Given the description of an element on the screen output the (x, y) to click on. 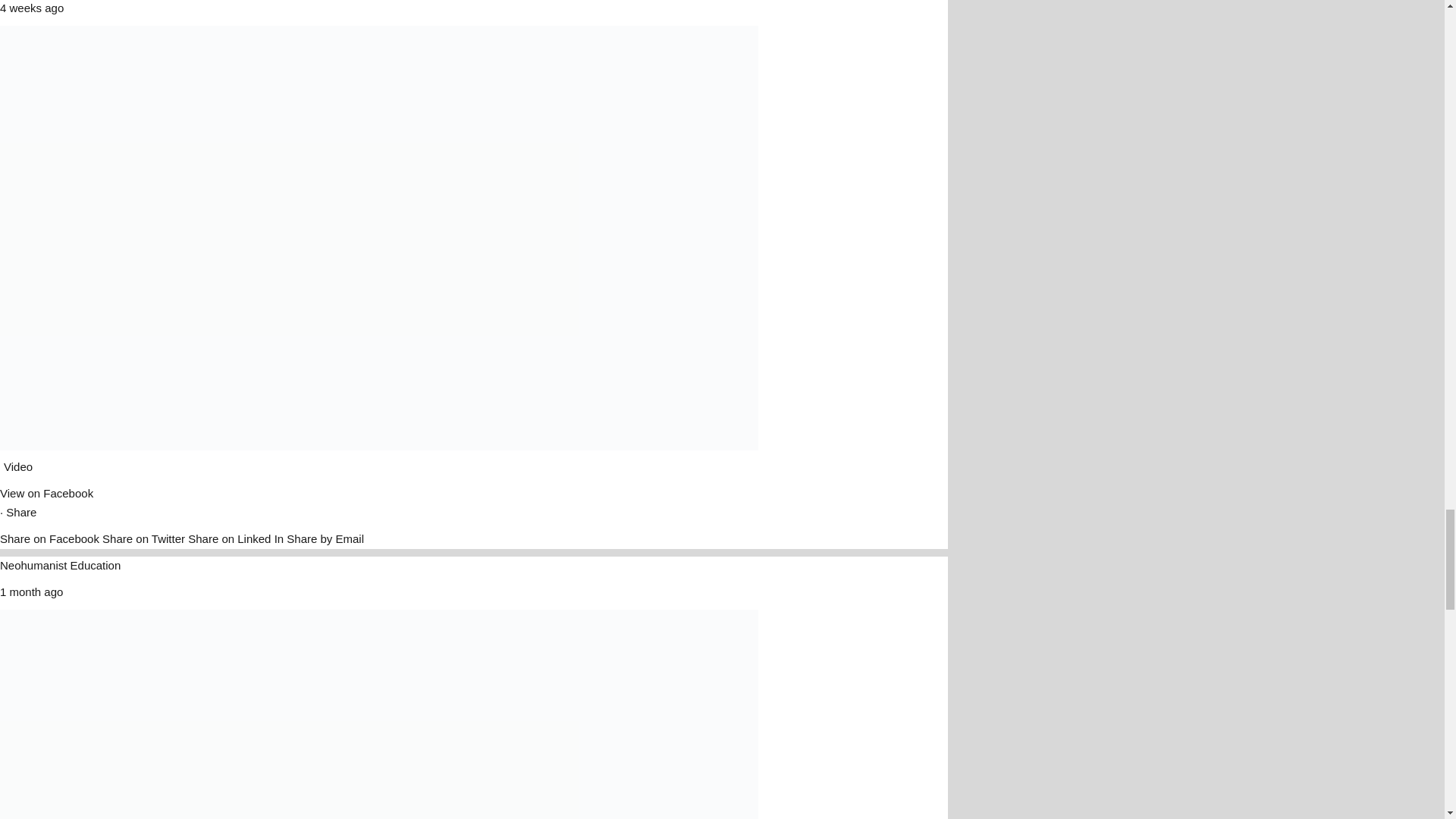
View on Facebook (46, 492)
Share (20, 512)
